Given the description of an element on the screen output the (x, y) to click on. 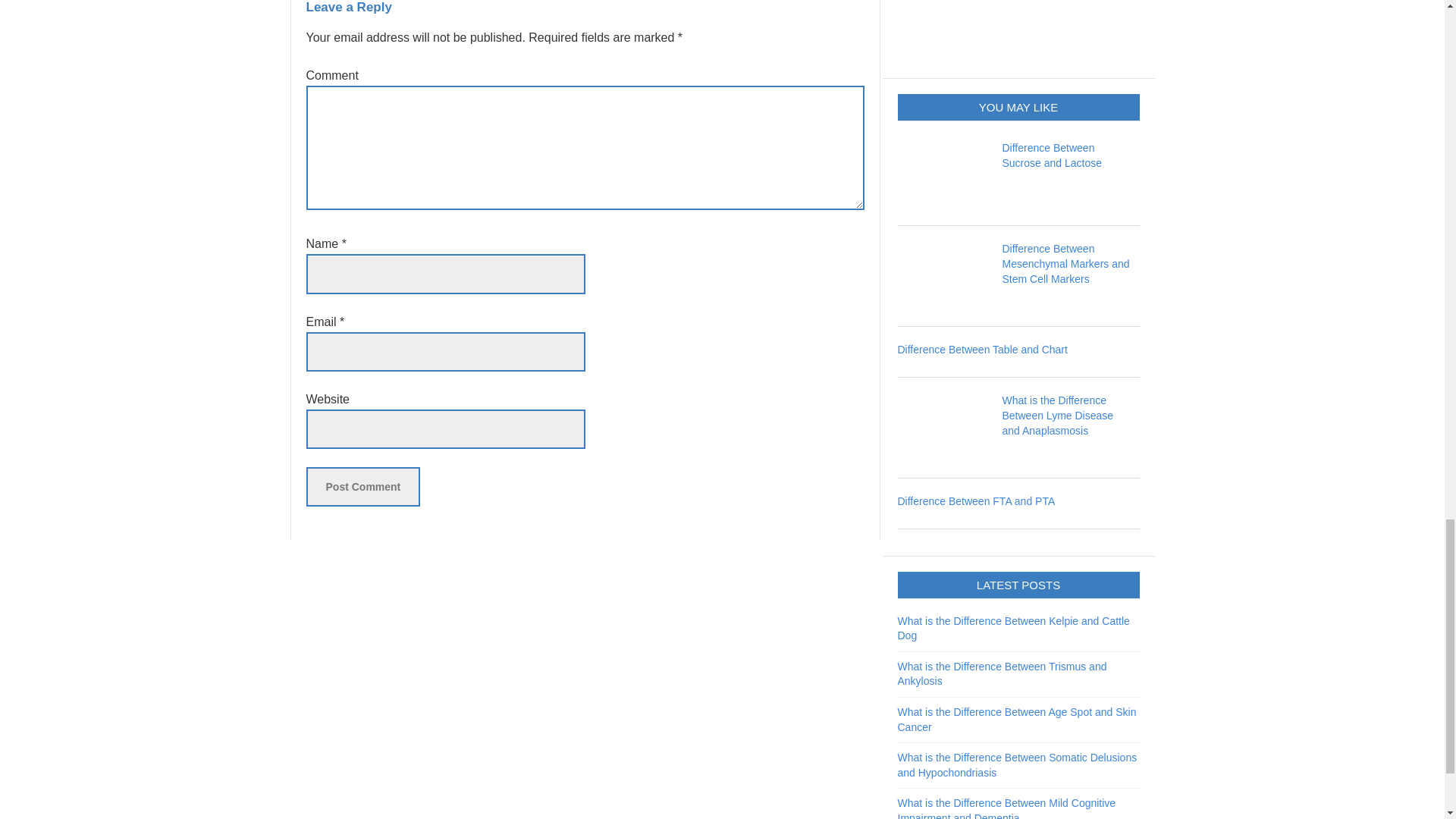
Post Comment (362, 486)
Difference Between Sucrose and Lactose (1052, 154)
Post Comment (362, 486)
Difference Between Mesenchymal Markers and Stem Cell Markers (1066, 263)
Advertisement (1011, 29)
Difference Between Table and Chart (982, 349)
